Given the description of an element on the screen output the (x, y) to click on. 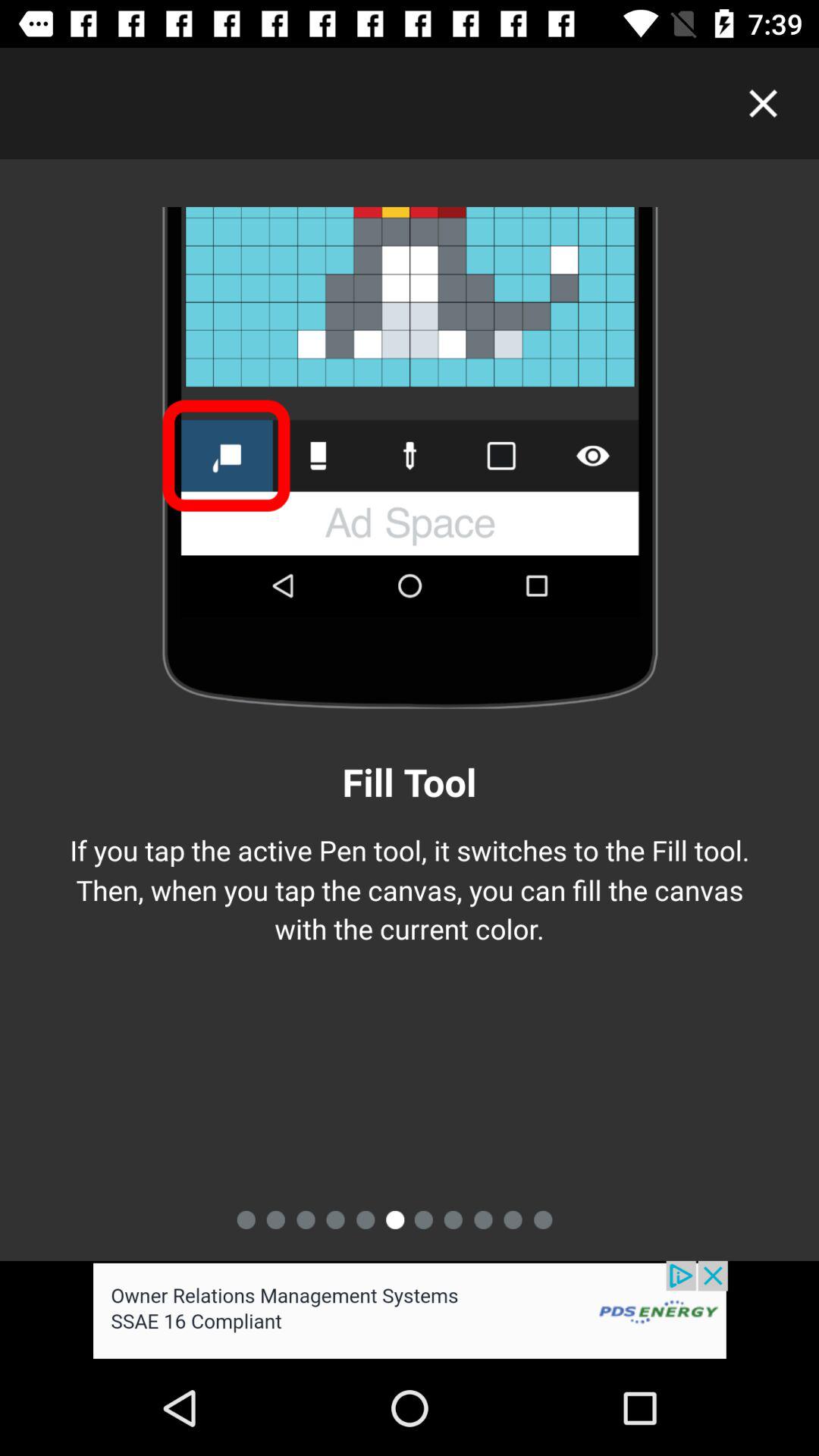
go to link in advertisement (409, 1310)
